Given the description of an element on the screen output the (x, y) to click on. 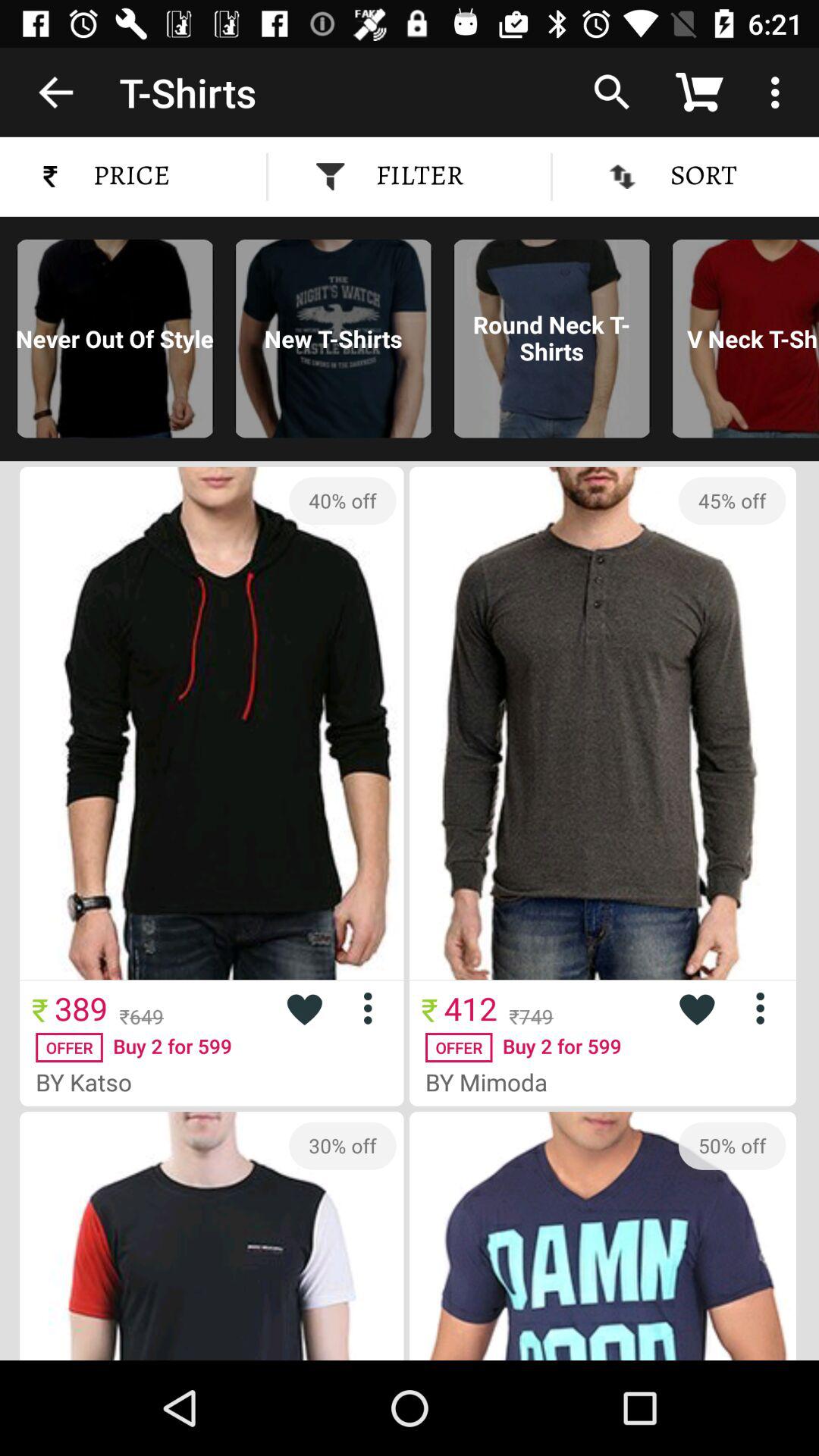
turn off app next to the t-shirts icon (55, 92)
